Given the description of an element on the screen output the (x, y) to click on. 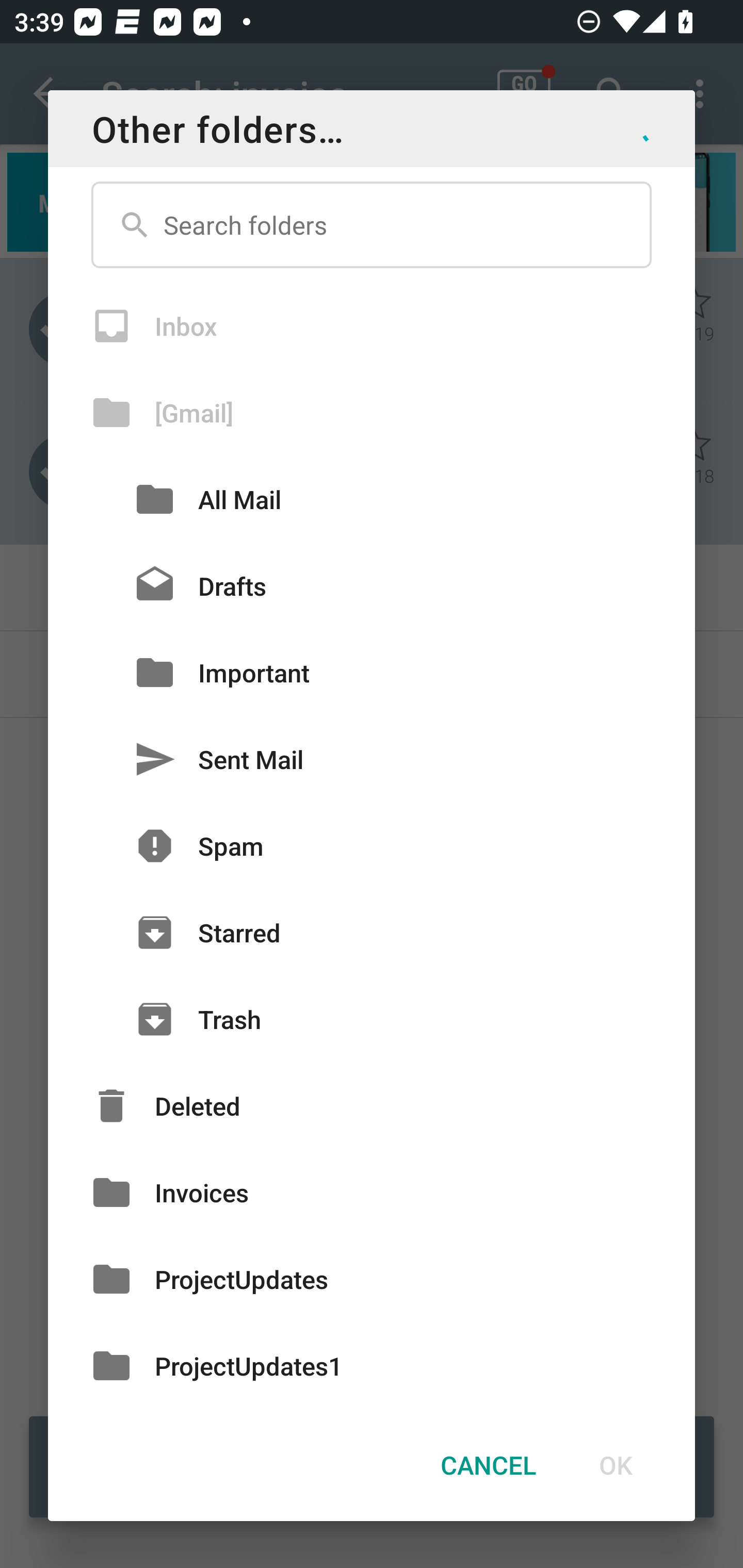
All Mail (371, 499)
Drafts (371, 585)
Important (371, 672)
Sent Mail (371, 759)
Spam (371, 845)
Starred (371, 932)
Trash (371, 1019)
Deleted (371, 1106)
Invoices (371, 1192)
ProjectUpdates (371, 1278)
ProjectUpdates1 (371, 1365)
CANCEL (488, 1464)
OK (615, 1464)
